Given the description of an element on the screen output the (x, y) to click on. 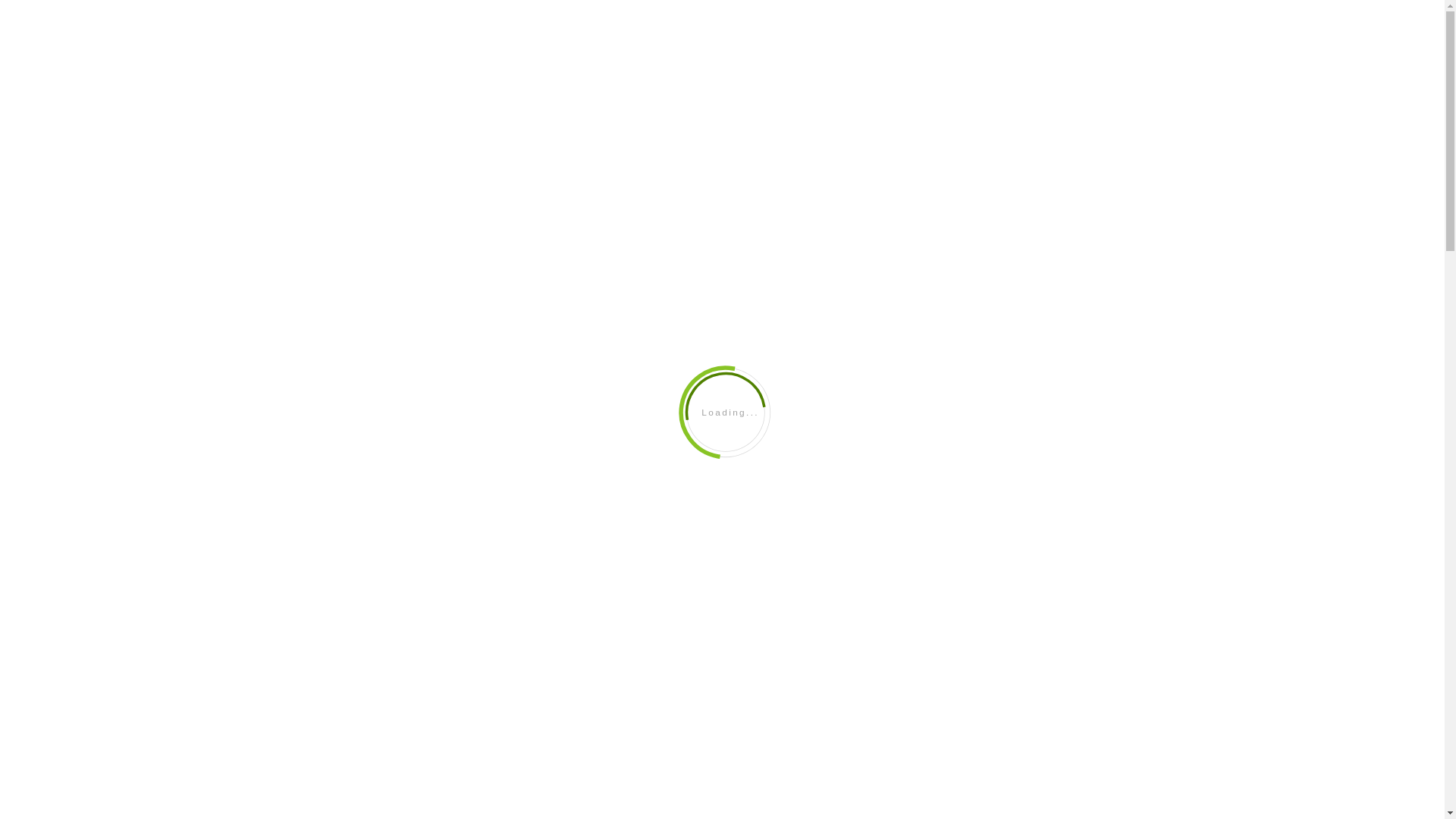
OUR WORK Element type: text (990, 7)
NEWS Element type: text (1055, 7)
CONTACT Element type: text (1116, 7)
TOP Element type: text (1417, 724)
OUR WORK Element type: text (1119, 216)
HOME Element type: text (783, 7)
ABOUT Element type: text (843, 7)
PARTNERS Element type: text (914, 7)
HOME Element type: text (1047, 216)
